Given the description of an element on the screen output the (x, y) to click on. 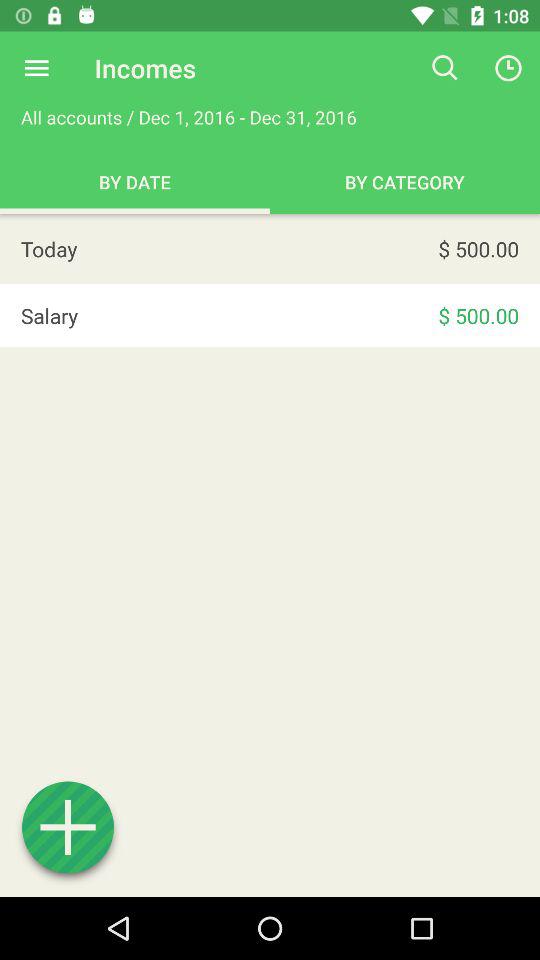
turn off icon above the by category icon (444, 67)
